Given the description of an element on the screen output the (x, y) to click on. 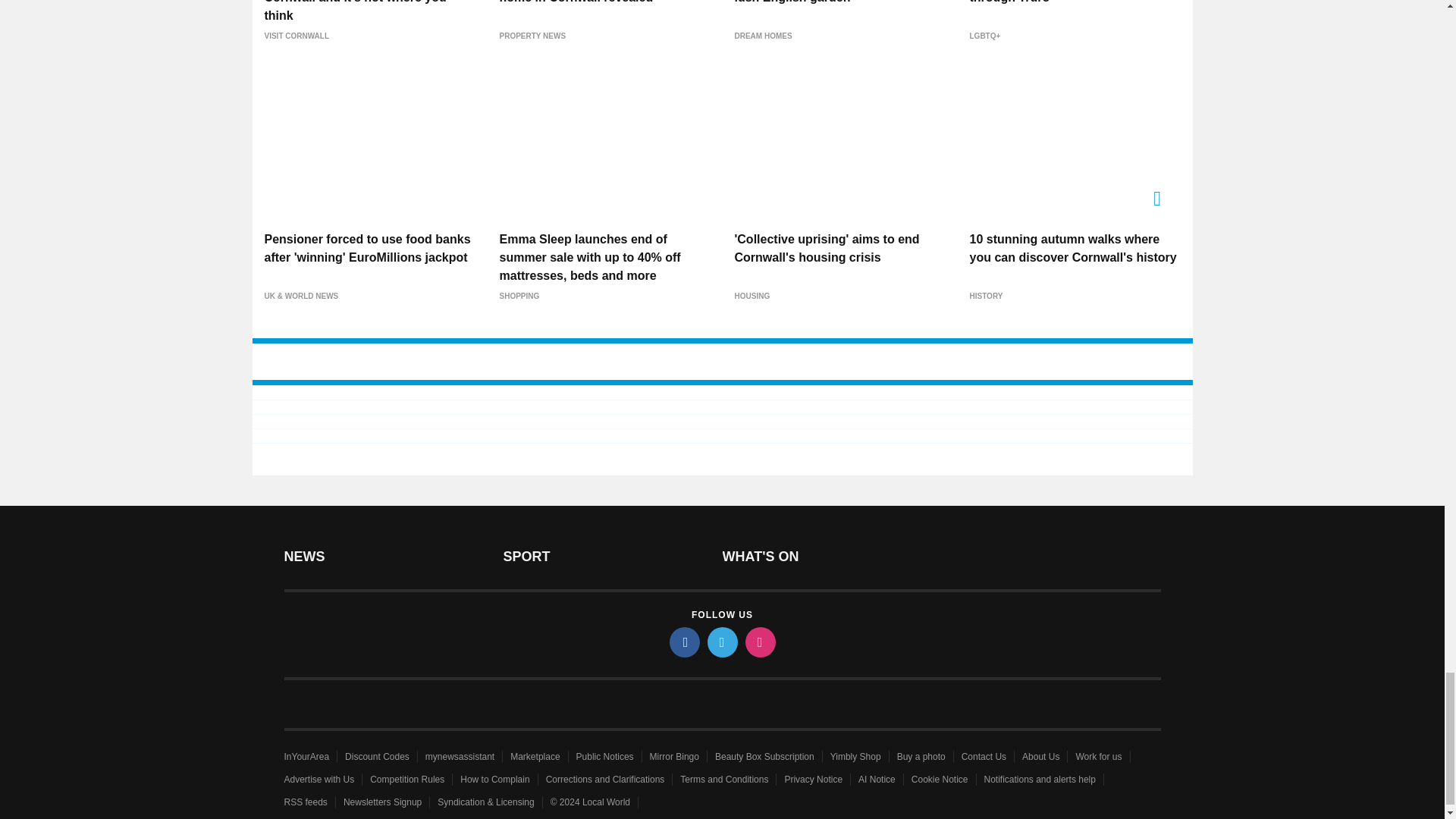
twitter (721, 642)
facebook (683, 642)
instagram (759, 642)
